Given the description of an element on the screen output the (x, y) to click on. 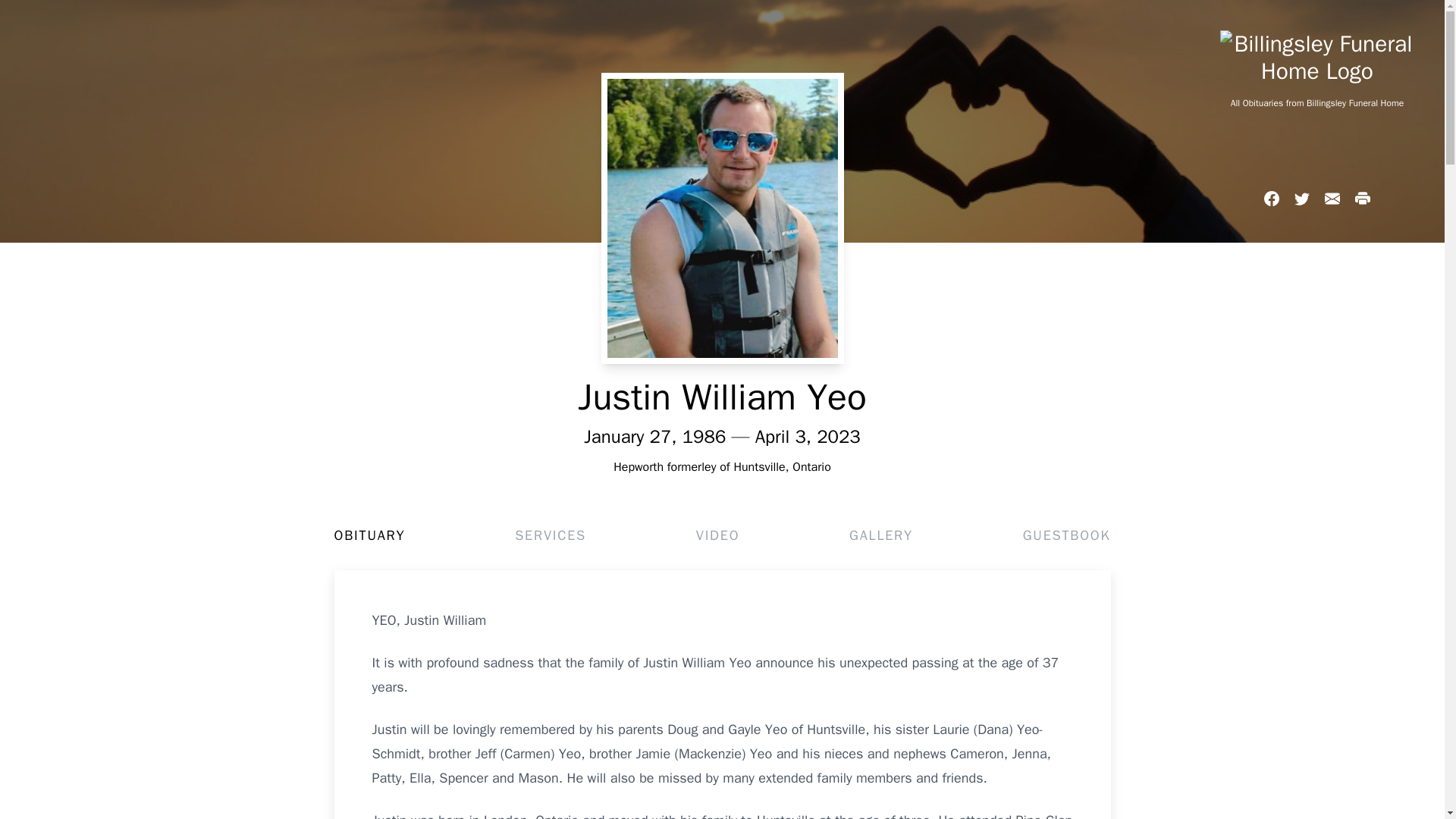
GUESTBOOK (1066, 535)
All Obituaries from Billingsley Funeral Home (1316, 102)
VIDEO (717, 535)
SERVICES (550, 535)
GALLERY (880, 535)
OBITUARY (368, 535)
